Given the description of an element on the screen output the (x, y) to click on. 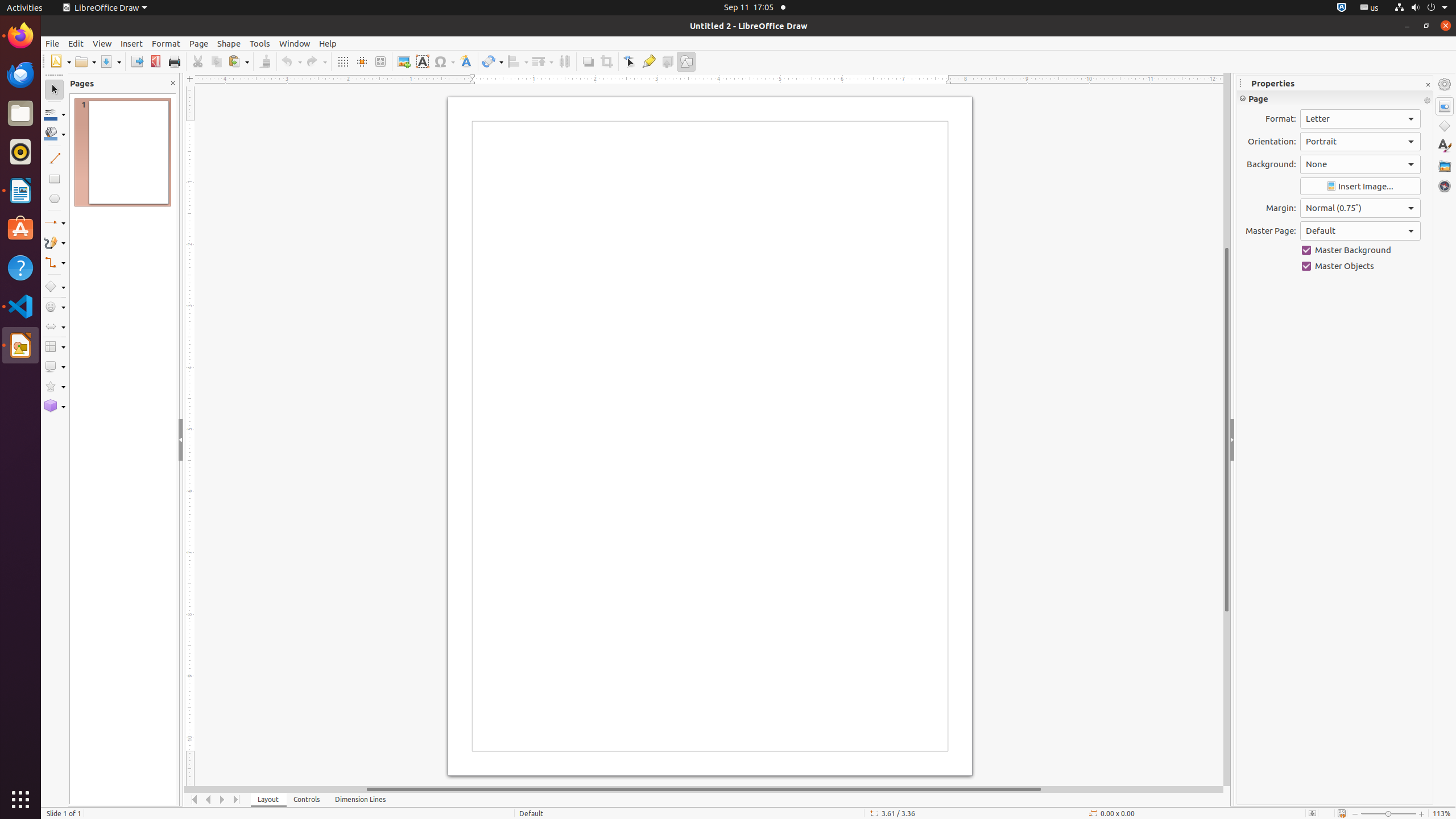
Window Element type: menu (294, 43)
Navigator Element type: radio-button (1444, 185)
Redo Element type: push-button (315, 61)
LibreOffice Writer Element type: push-button (20, 190)
Vertical Ruler Element type: ruler (190, 436)
